Given the description of an element on the screen output the (x, y) to click on. 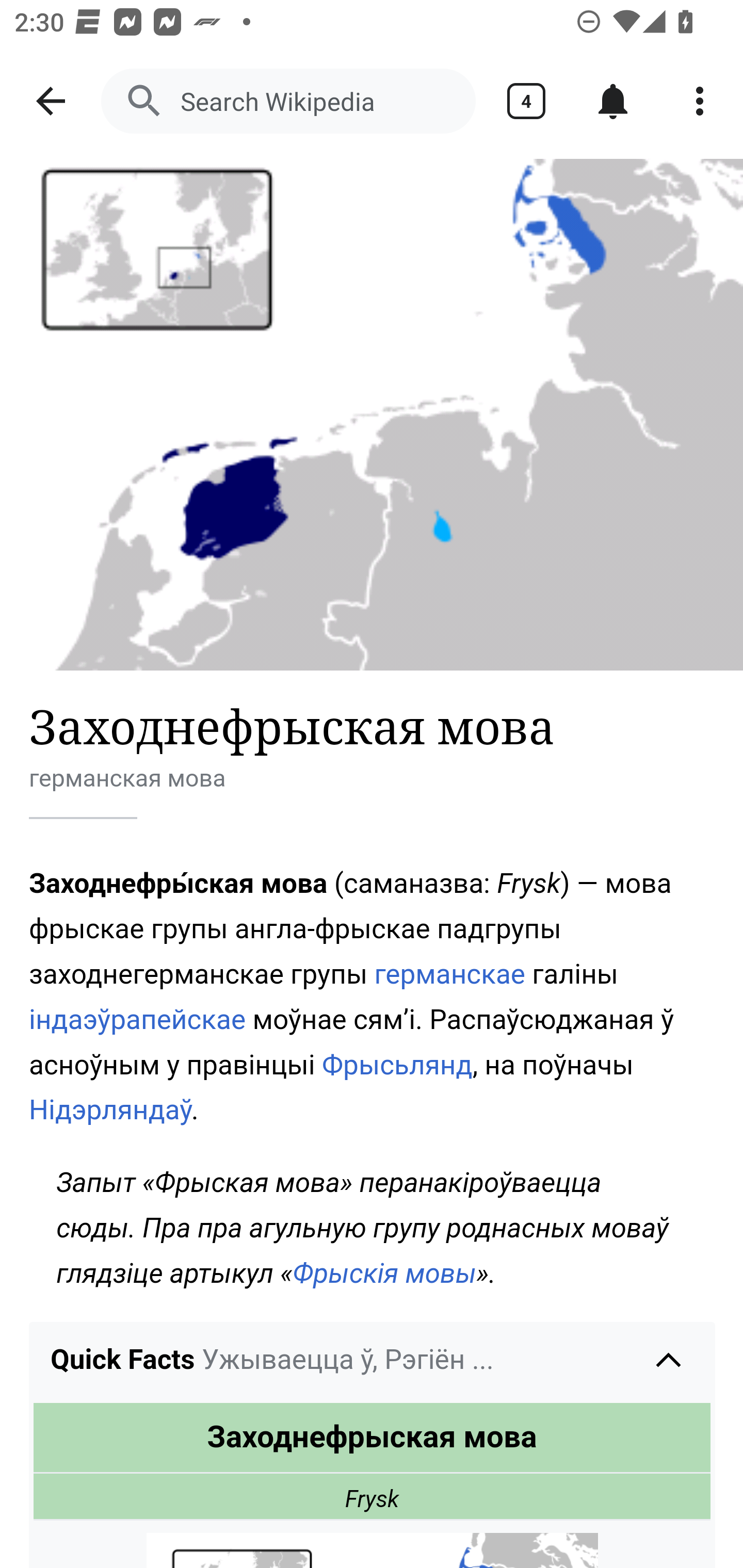
Show tabs 4 (525, 100)
Notifications (612, 100)
Navigate up (50, 101)
More options (699, 101)
Search Wikipedia (288, 100)
Image: Заходнефрыская мова (371, 414)
германскае (450, 973)
індаэўрапейскае (137, 1018)
Фрысьлянд (397, 1063)
Нідэрляндаў (110, 1109)
Фрыскія мовы (384, 1272)
